Given the description of an element on the screen output the (x, y) to click on. 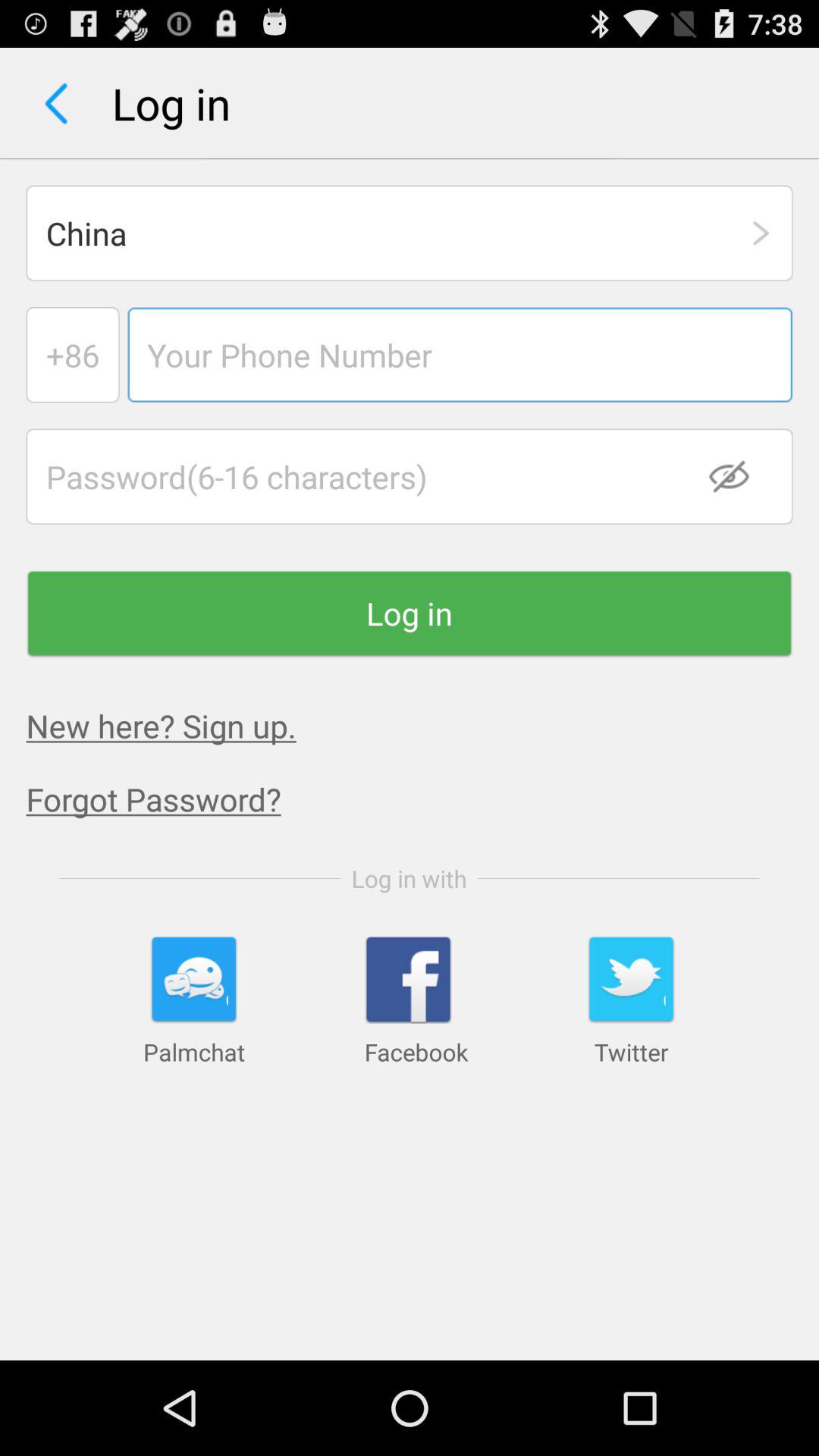
password field (409, 476)
